Given the description of an element on the screen output the (x, y) to click on. 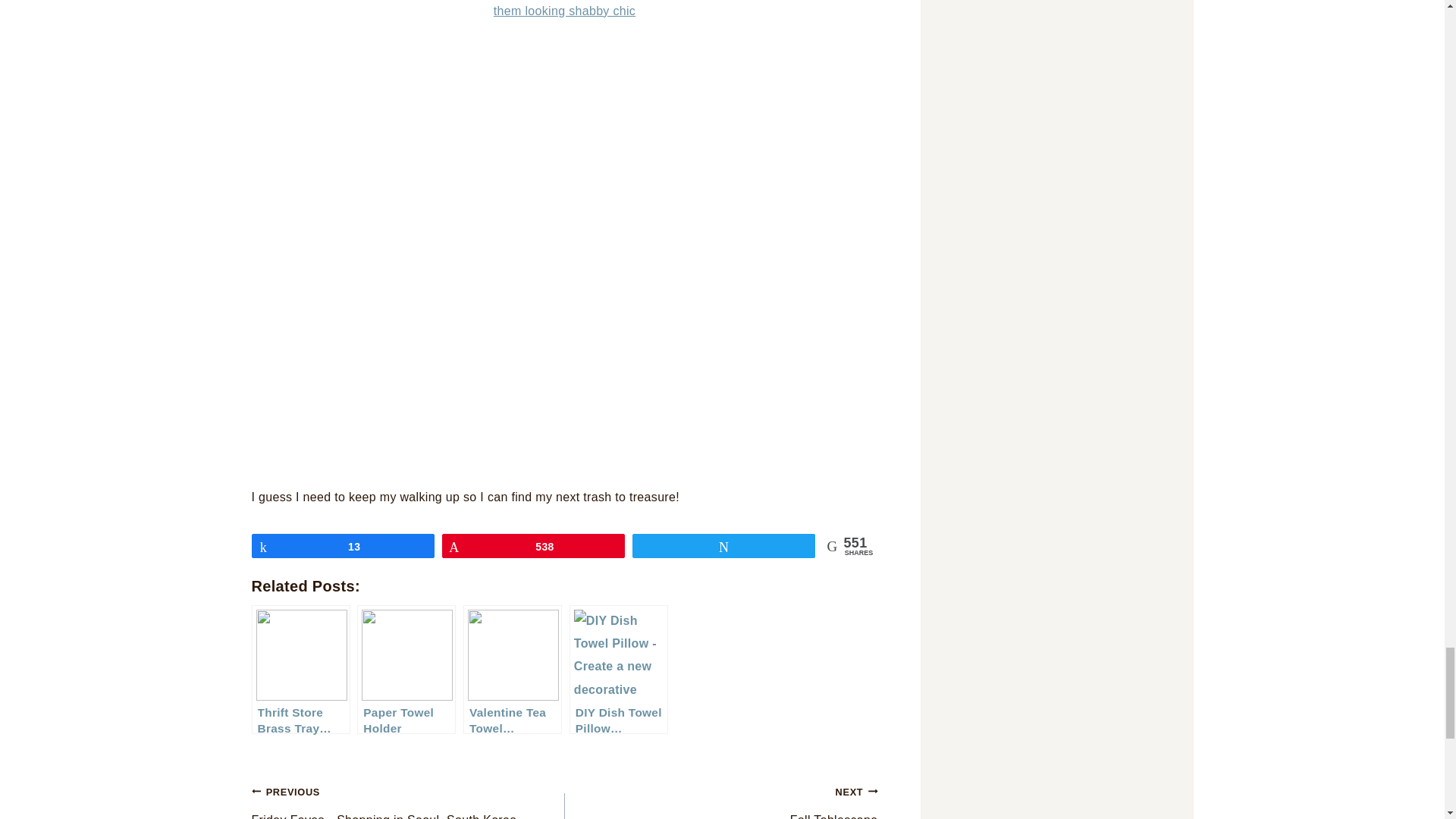
Paper Towel Holder (405, 669)
